Given the description of an element on the screen output the (x, y) to click on. 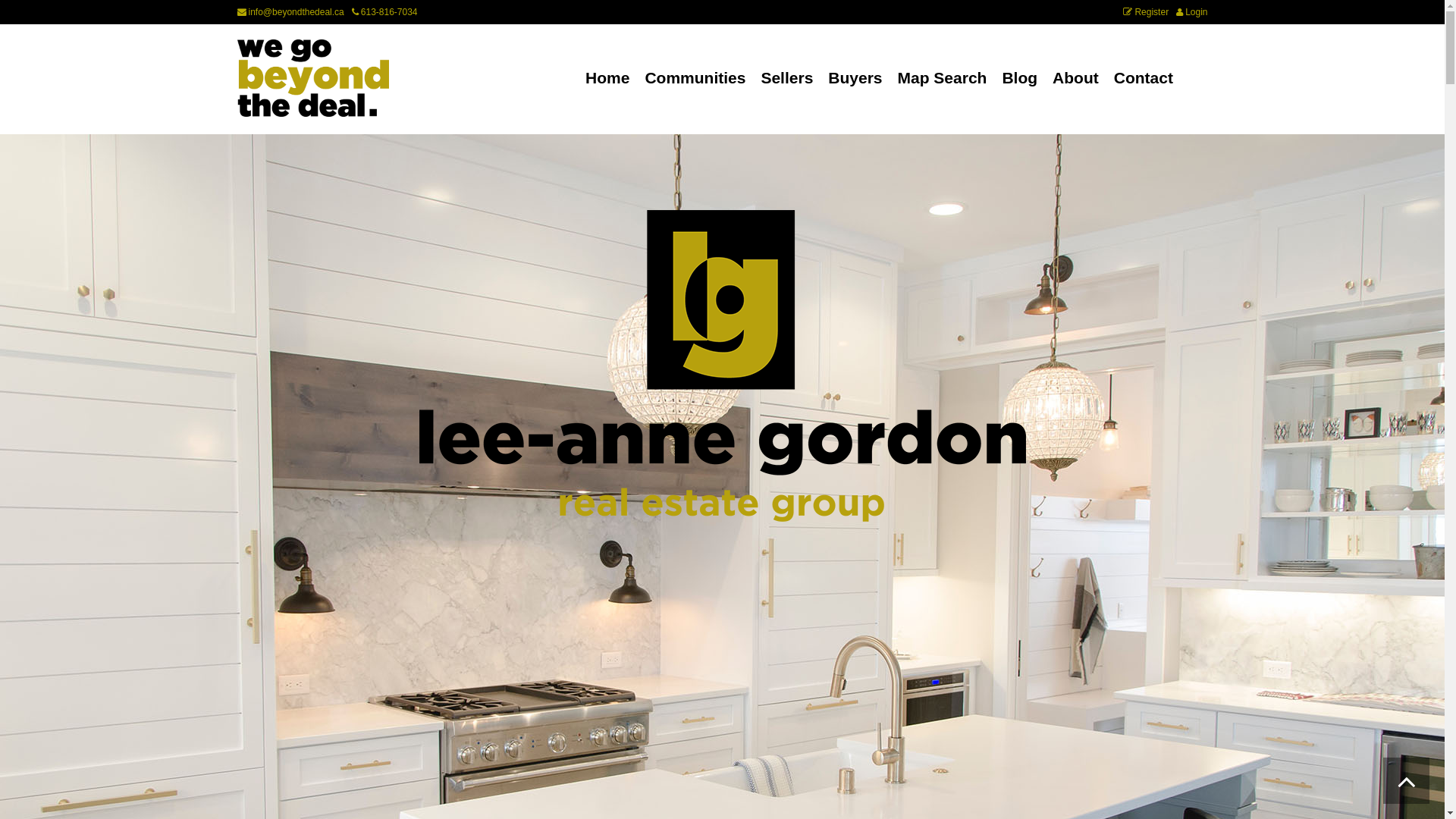
 Login Element type: text (1191, 11)
 Register Element type: text (1145, 11)
Communities Element type: text (694, 79)
Sellers Element type: text (786, 79)
About Element type: text (1075, 79)
Home Element type: text (607, 79)
Map Search Element type: text (942, 79)
Blog Element type: text (1019, 79)
 613-816-7034 Element type: text (384, 11)
Contact Element type: text (1143, 79)
 info@beyondthedeal.ca Element type: text (289, 11)
Buyers Element type: text (854, 79)
